Given the description of an element on the screen output the (x, y) to click on. 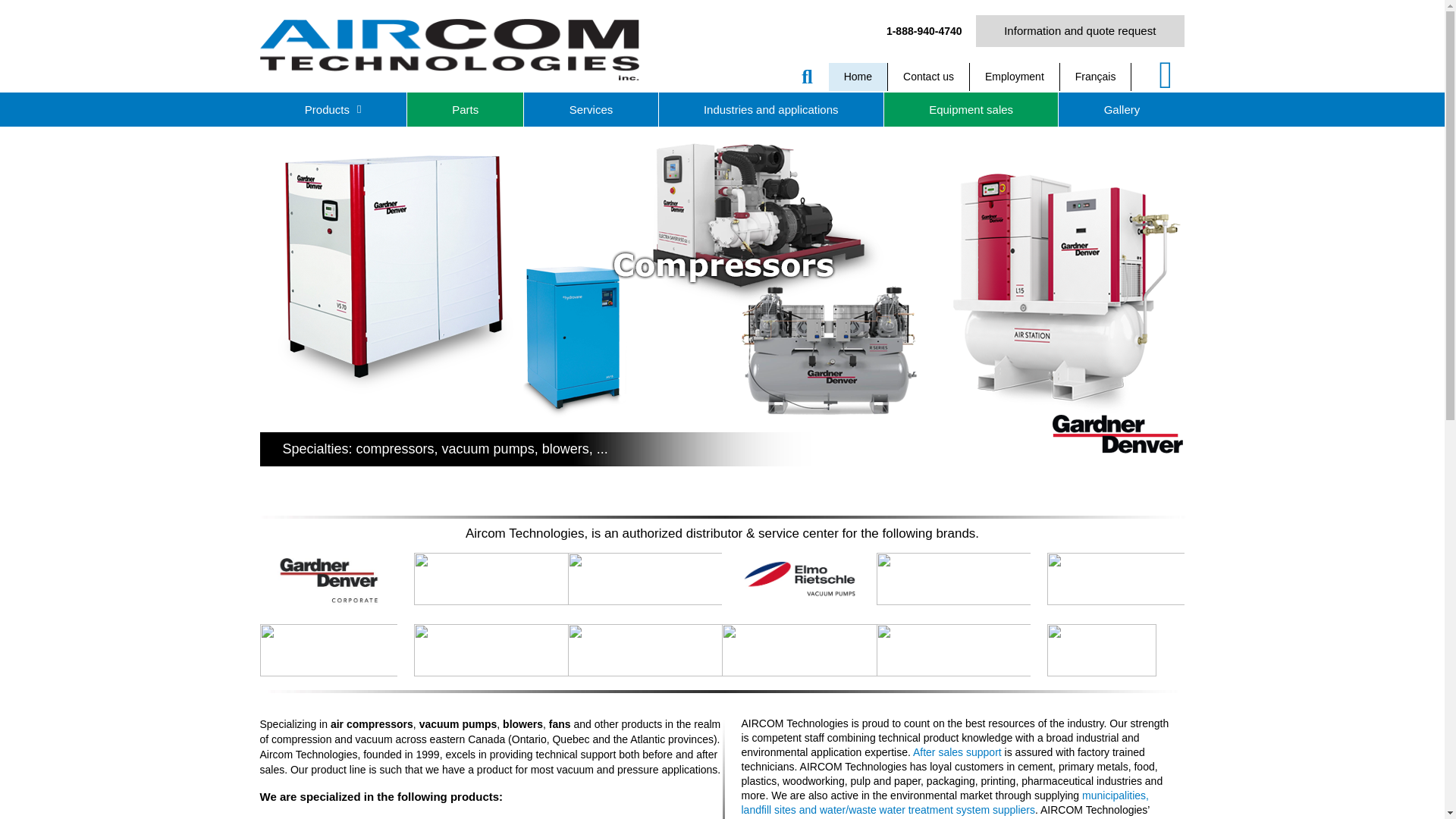
Contact us (928, 76)
Home (858, 76)
Employment (1014, 76)
After sales support - Aircom Technologies, Montreal, Quebec (956, 752)
Information and quote request (1080, 30)
Products (332, 109)
1-888-940-4740 (924, 30)
